Given the description of an element on the screen output the (x, y) to click on. 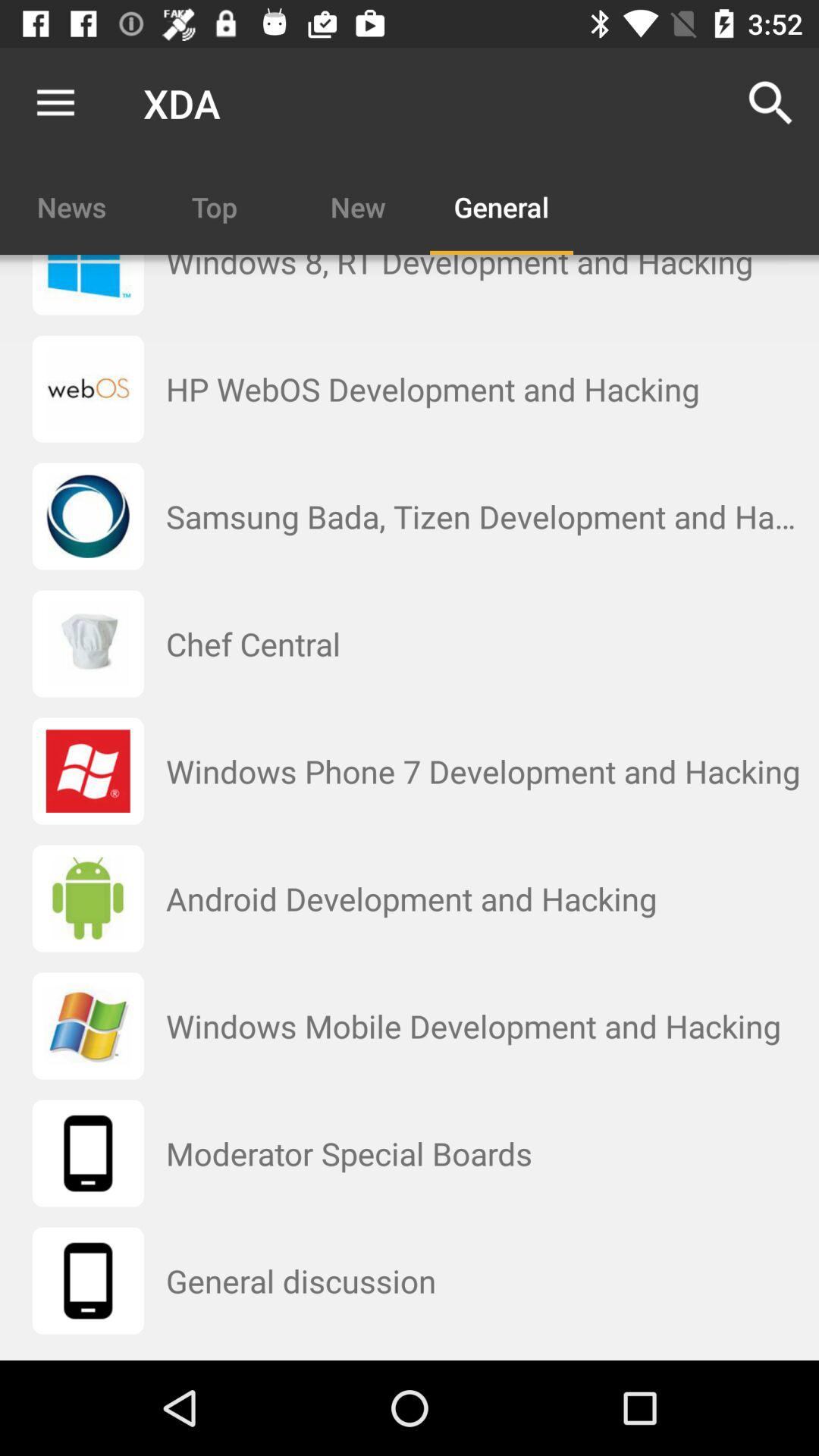
press the item next to xda app (55, 103)
